Given the description of an element on the screen output the (x, y) to click on. 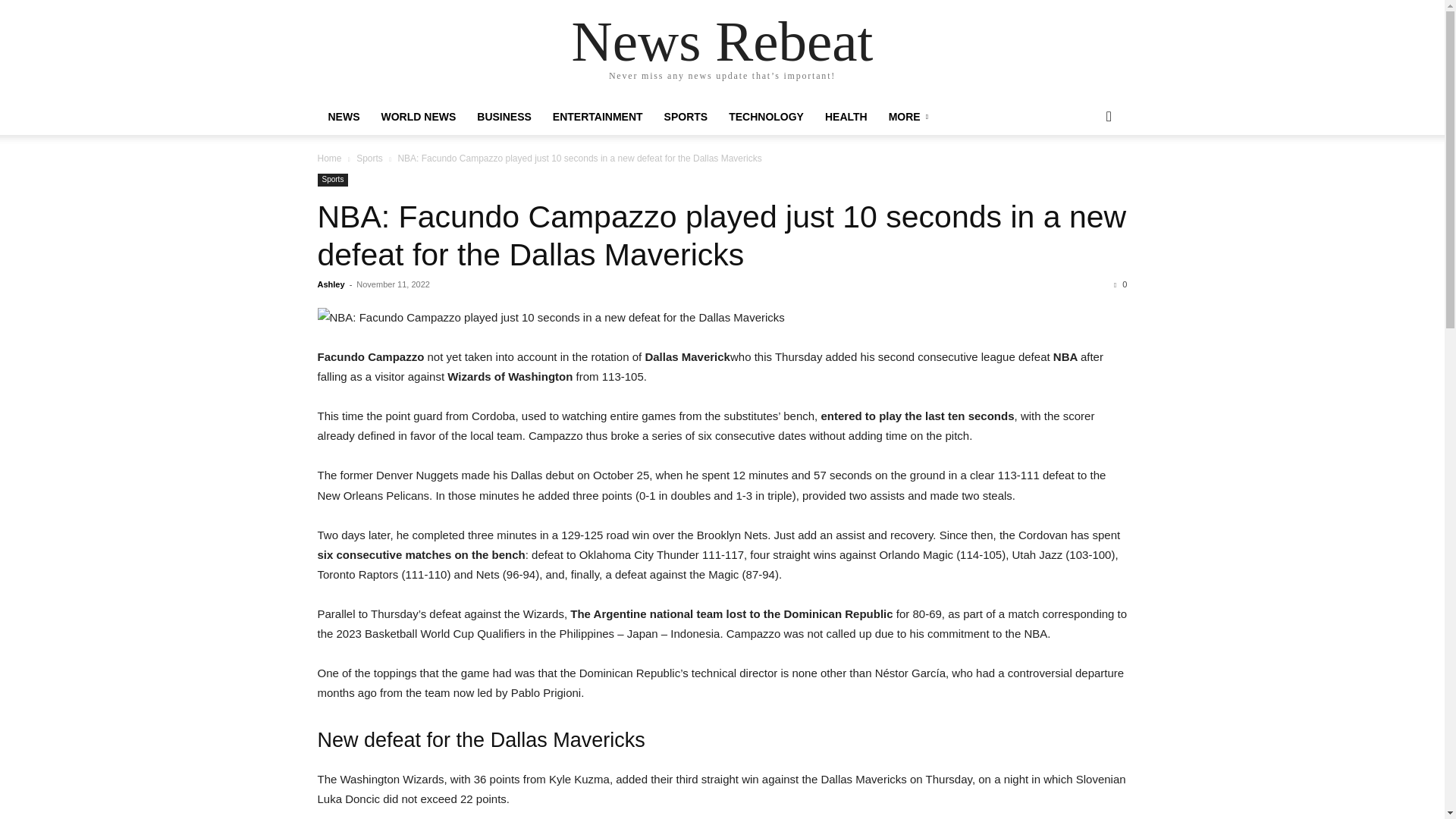
ENTERTAINMENT (597, 116)
WORLD NEWS (417, 116)
Home (328, 158)
BUSINESS (503, 116)
Ashley (330, 284)
0 (1119, 284)
TECHNOLOGY (765, 116)
Sports (369, 158)
News Rebeat (722, 41)
SPORTS (686, 116)
MORE (908, 116)
Sports (332, 179)
